Given the description of an element on the screen output the (x, y) to click on. 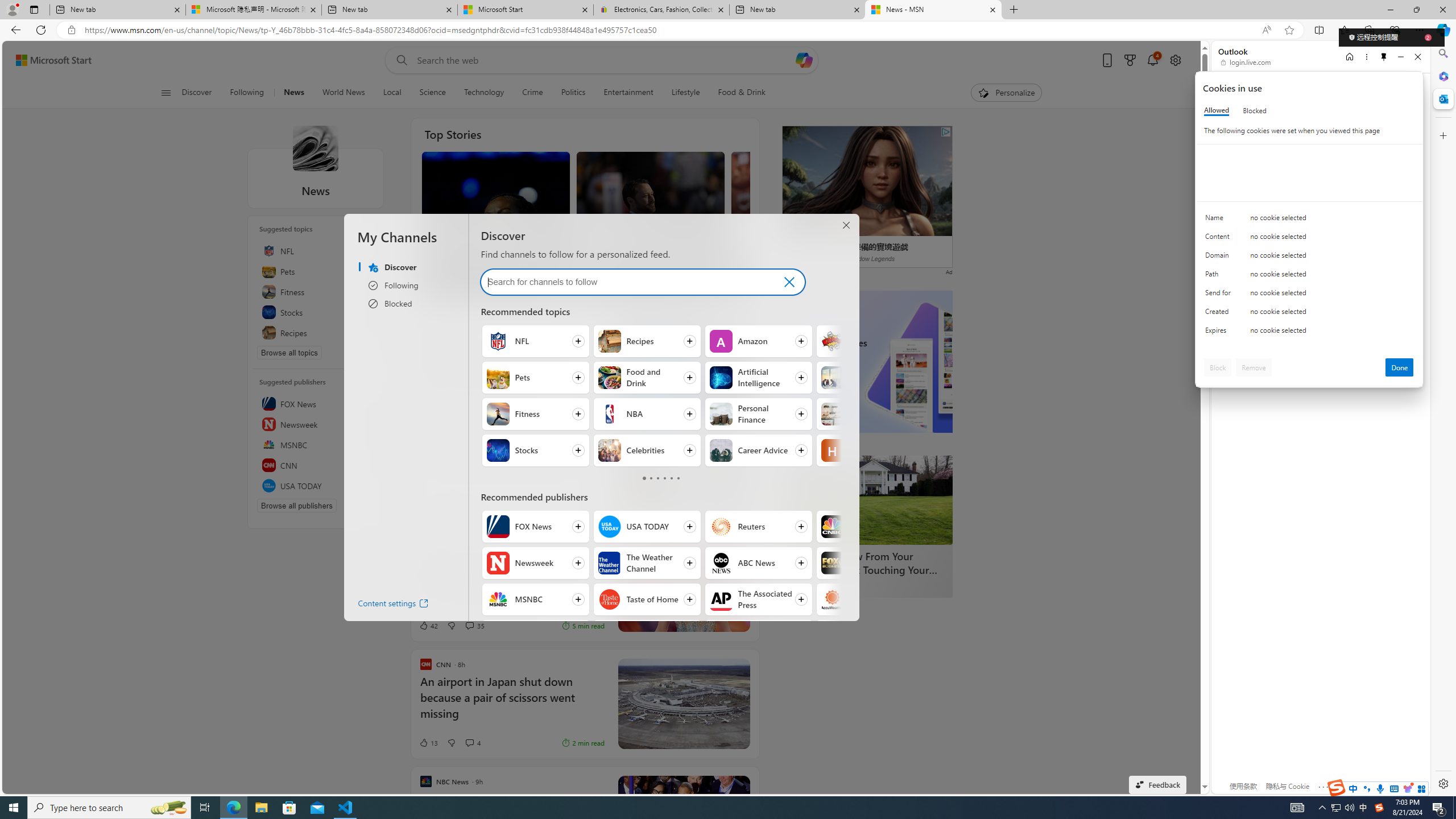
Follow Career Advice (758, 450)
Customize (1442, 135)
Celebrities (609, 449)
Follow BBC (869, 635)
ABC News (720, 563)
Follow CNBC (869, 526)
Personalize (1006, 92)
The Weather Channel (609, 563)
Split screen (1318, 29)
Class: c0153 c0157 (1309, 332)
Read aloud this page (Ctrl+Shift+U) (1266, 29)
Collections (1369, 29)
View comments 16 Comment (634, 284)
